Given the description of an element on the screen output the (x, y) to click on. 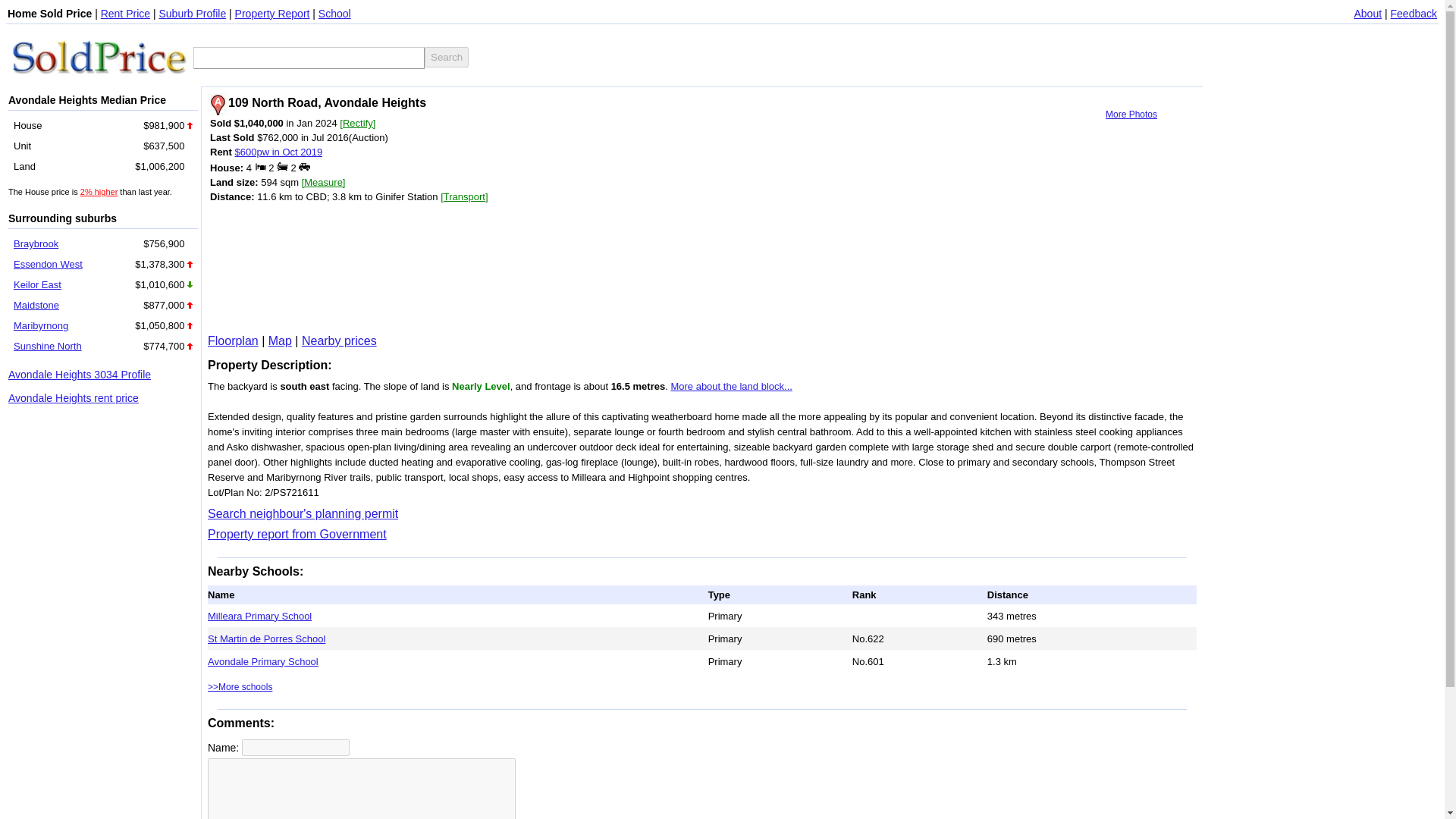
Property report from Government (297, 533)
Nearby prices (339, 340)
Maidstone (36, 305)
Avondale Heights rent price (73, 398)
Advertisement (657, 56)
School (334, 13)
Maribyrnong (40, 325)
Rent Price (124, 13)
Car spaces (304, 165)
Floorplan (233, 340)
